Given the description of an element on the screen output the (x, y) to click on. 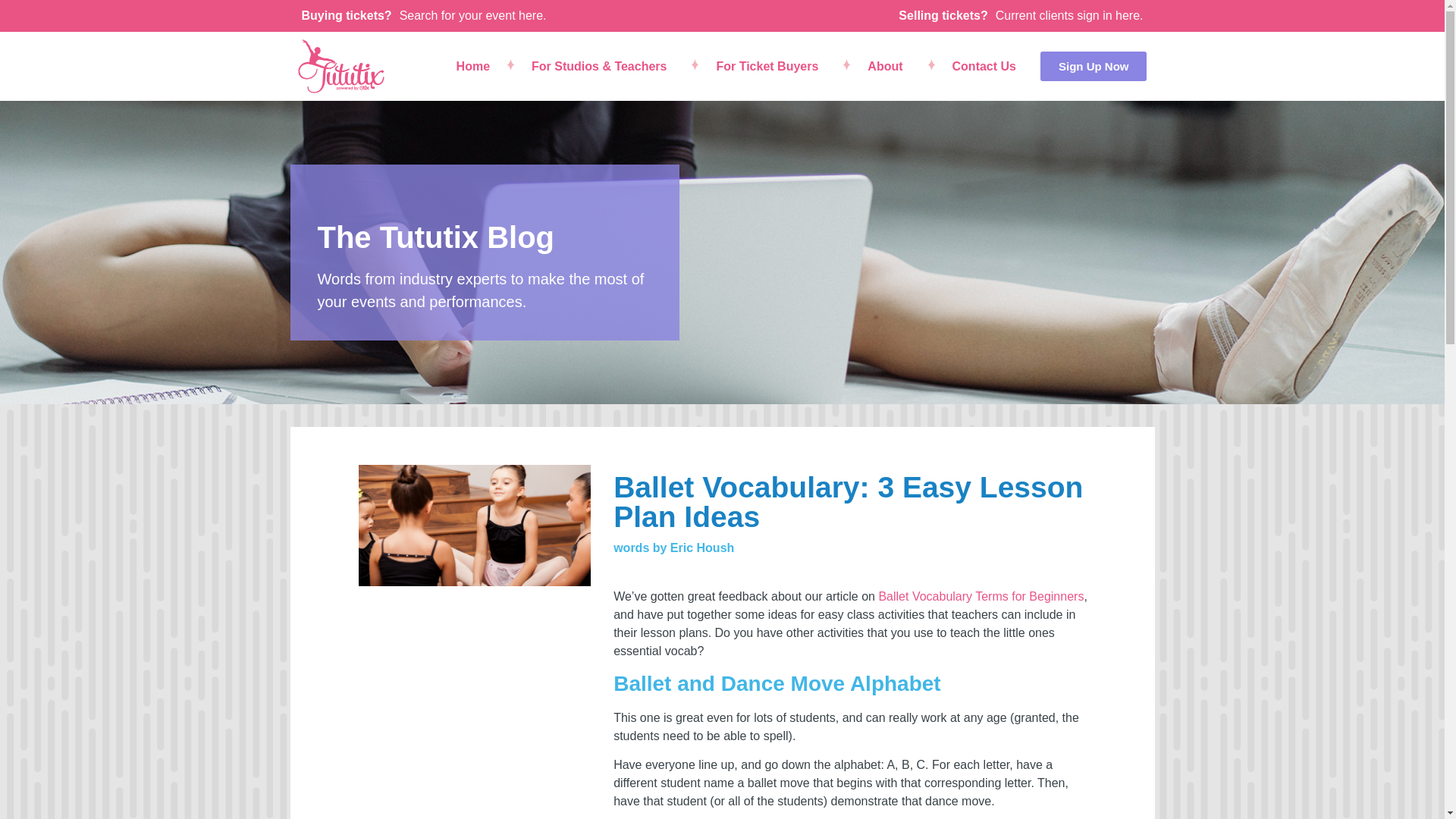
Search for your event here. (472, 15)
Selling tickets? (942, 15)
Buying tickets? (346, 15)
Current clients sign in here. (1068, 15)
